Given the description of an element on the screen output the (x, y) to click on. 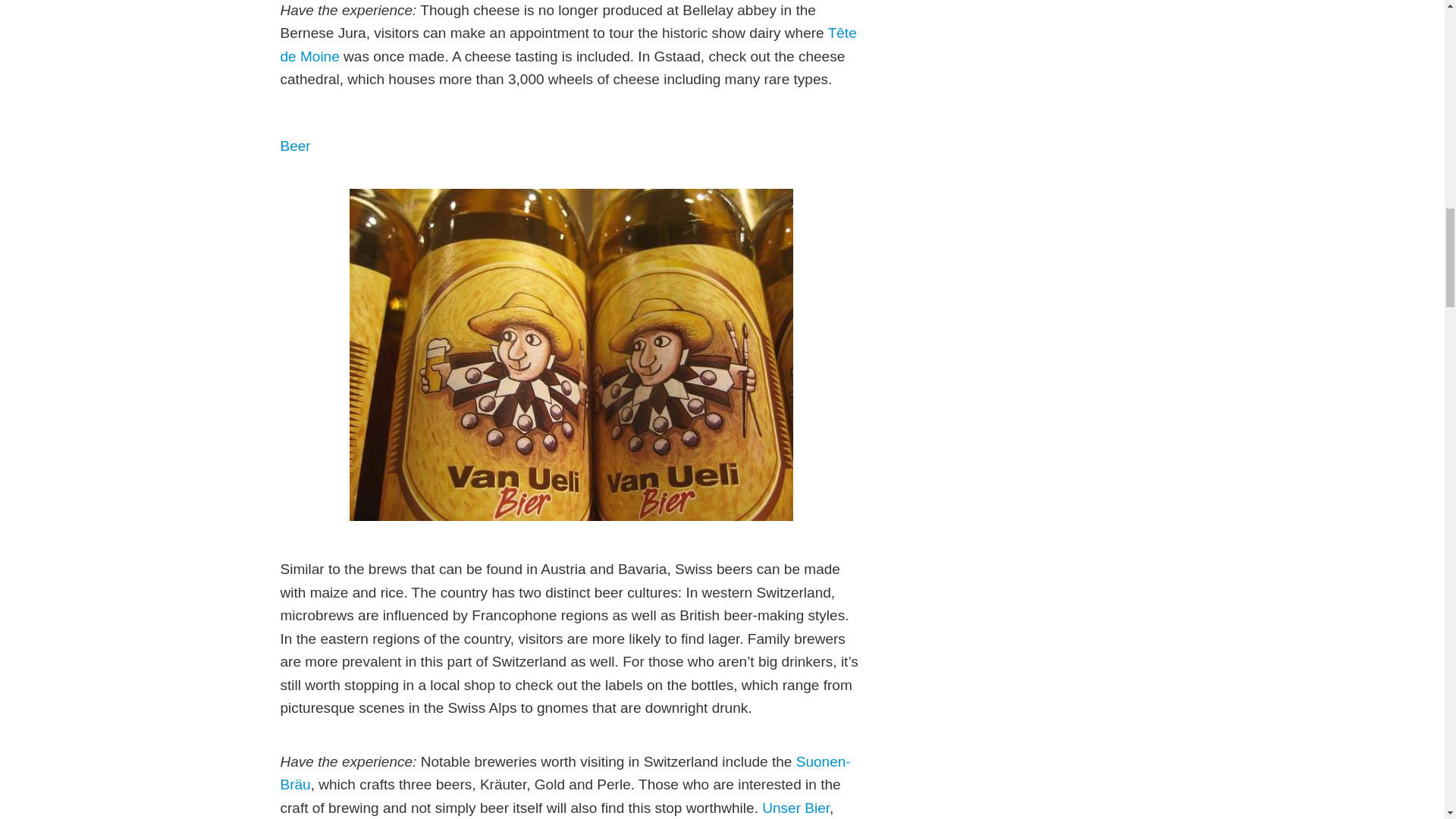
Unser Bier (795, 807)
